Given the description of an element on the screen output the (x, y) to click on. 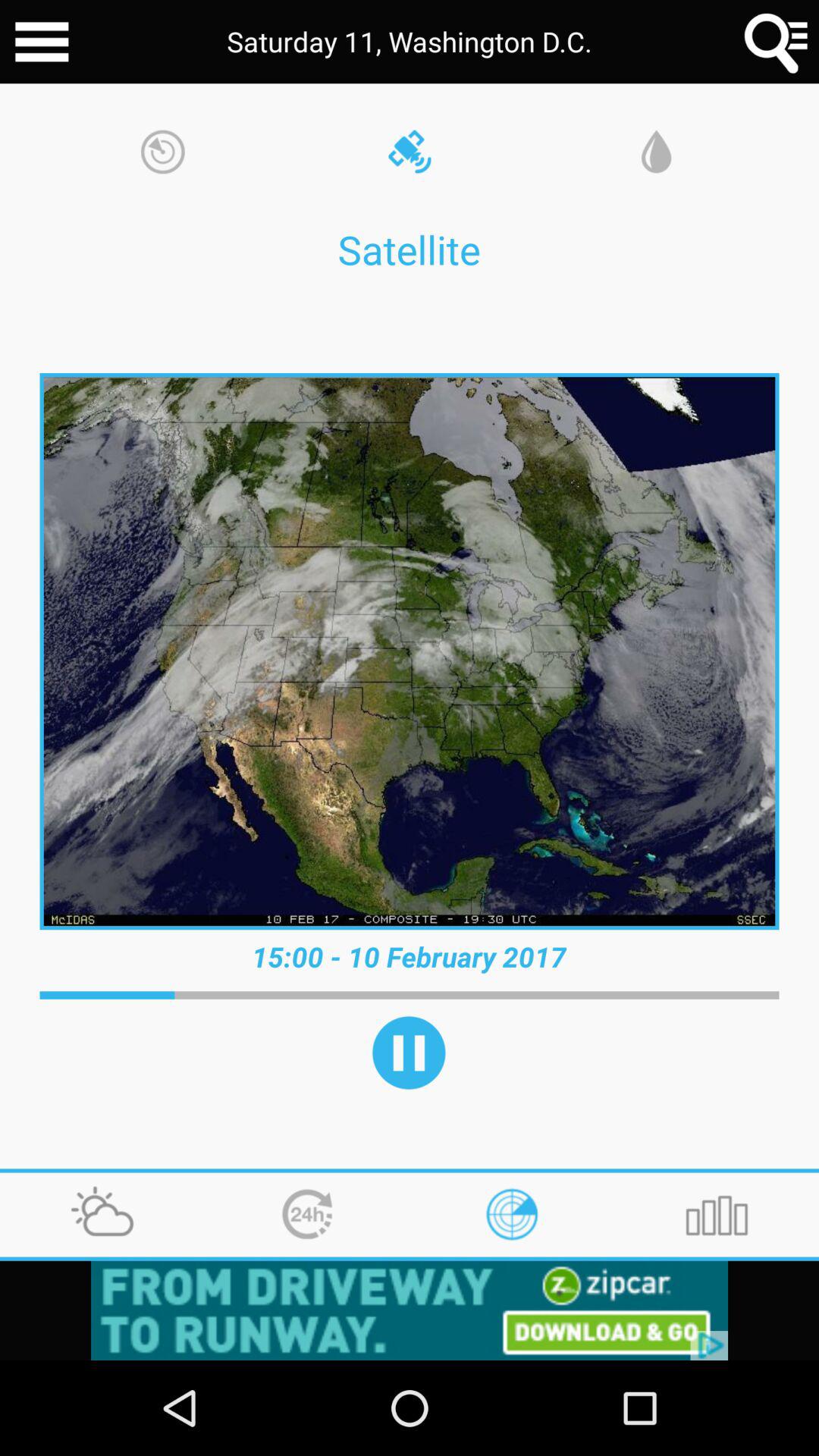
pause playback (409, 1052)
